Given the description of an element on the screen output the (x, y) to click on. 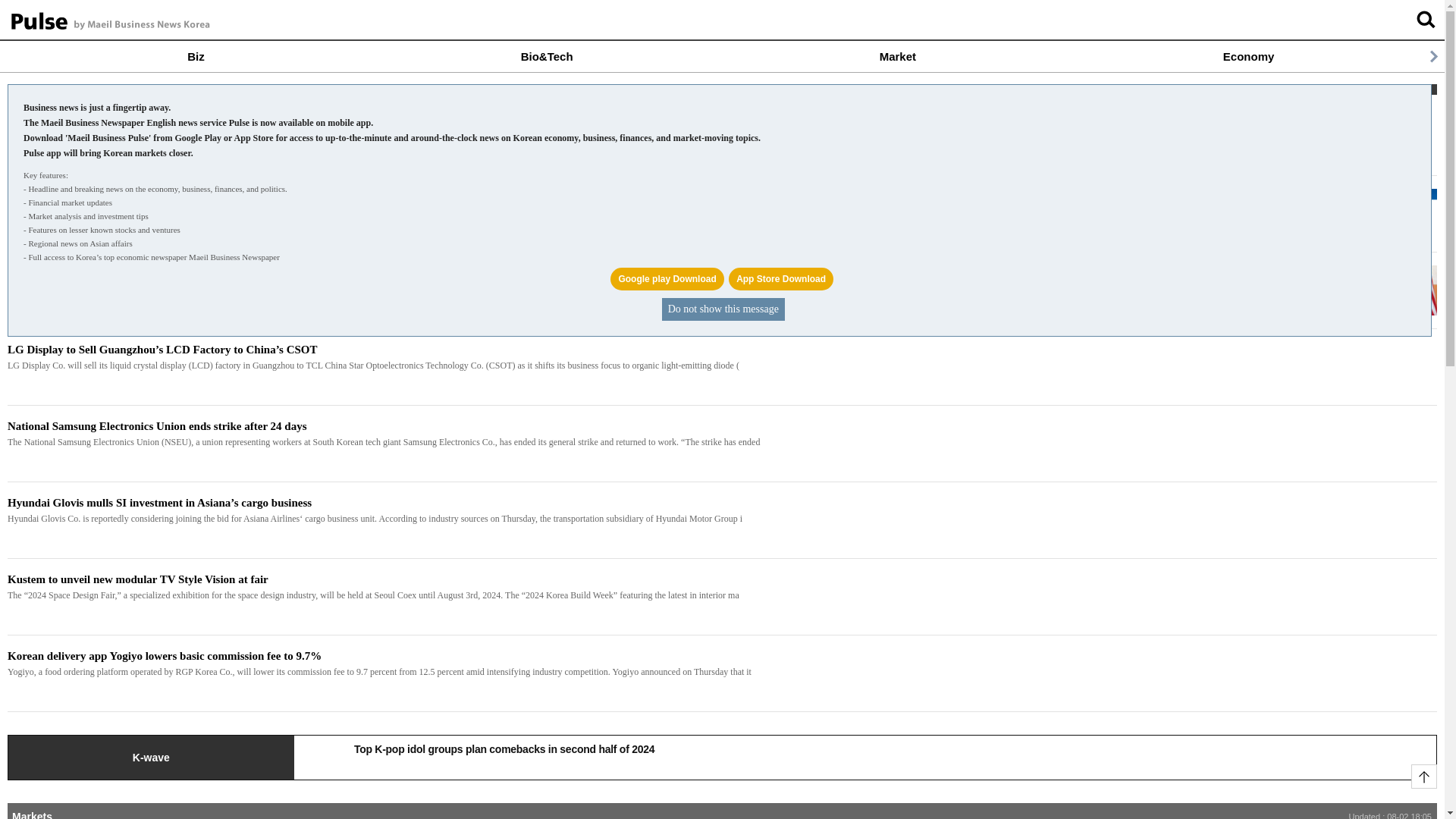
Top K-pop idol groups plan comebacks in second half of 2024 (864, 745)
K-wave (151, 757)
Market (897, 56)
Markets (31, 814)
Do not show this message (723, 309)
App Store Download (780, 278)
Economy (1249, 56)
Google play Download (666, 278)
Biz (196, 56)
